Given the description of an element on the screen output the (x, y) to click on. 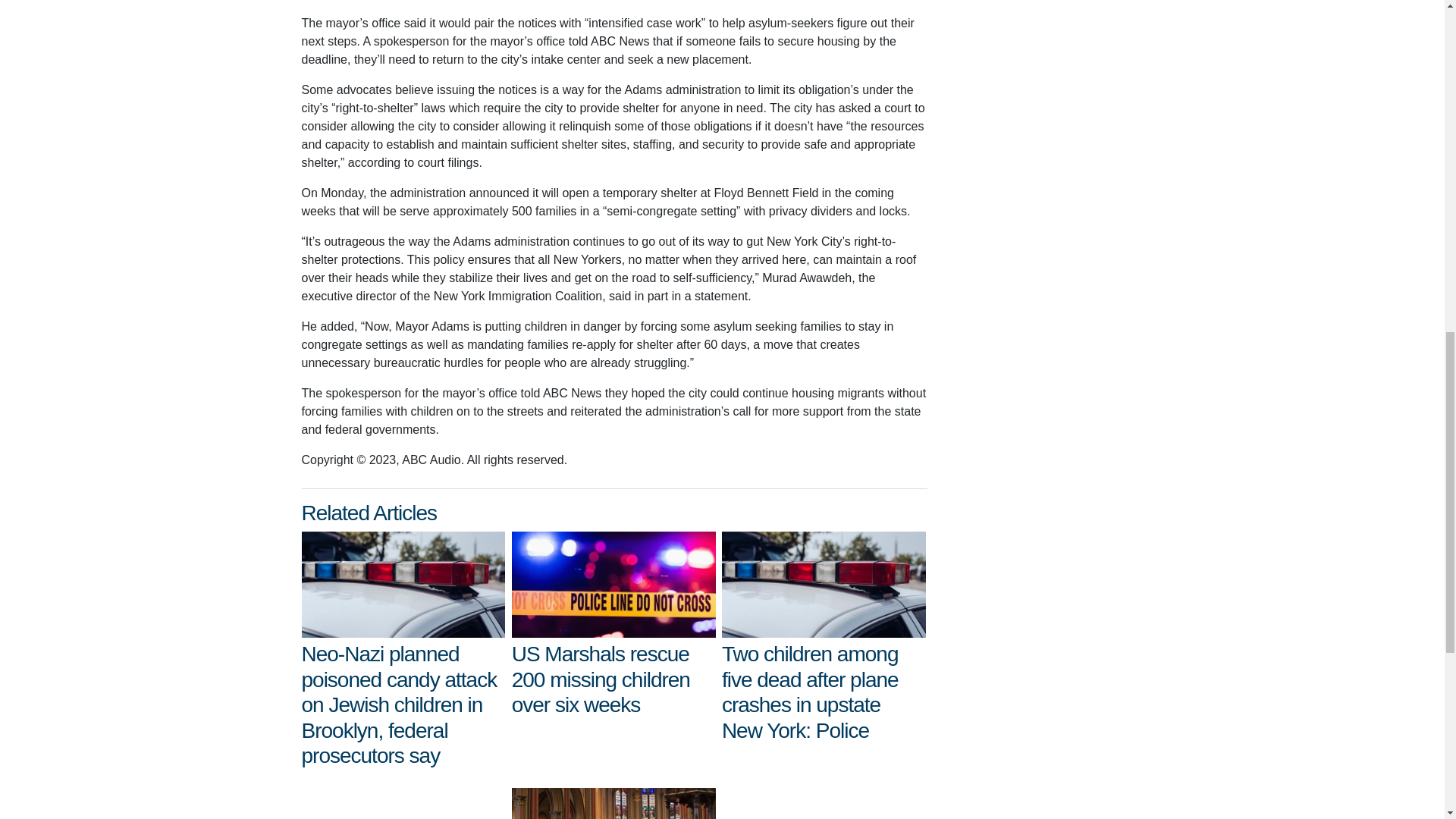
US Marshals rescue 200 missing children over six weeks (614, 584)
